Given the description of an element on the screen output the (x, y) to click on. 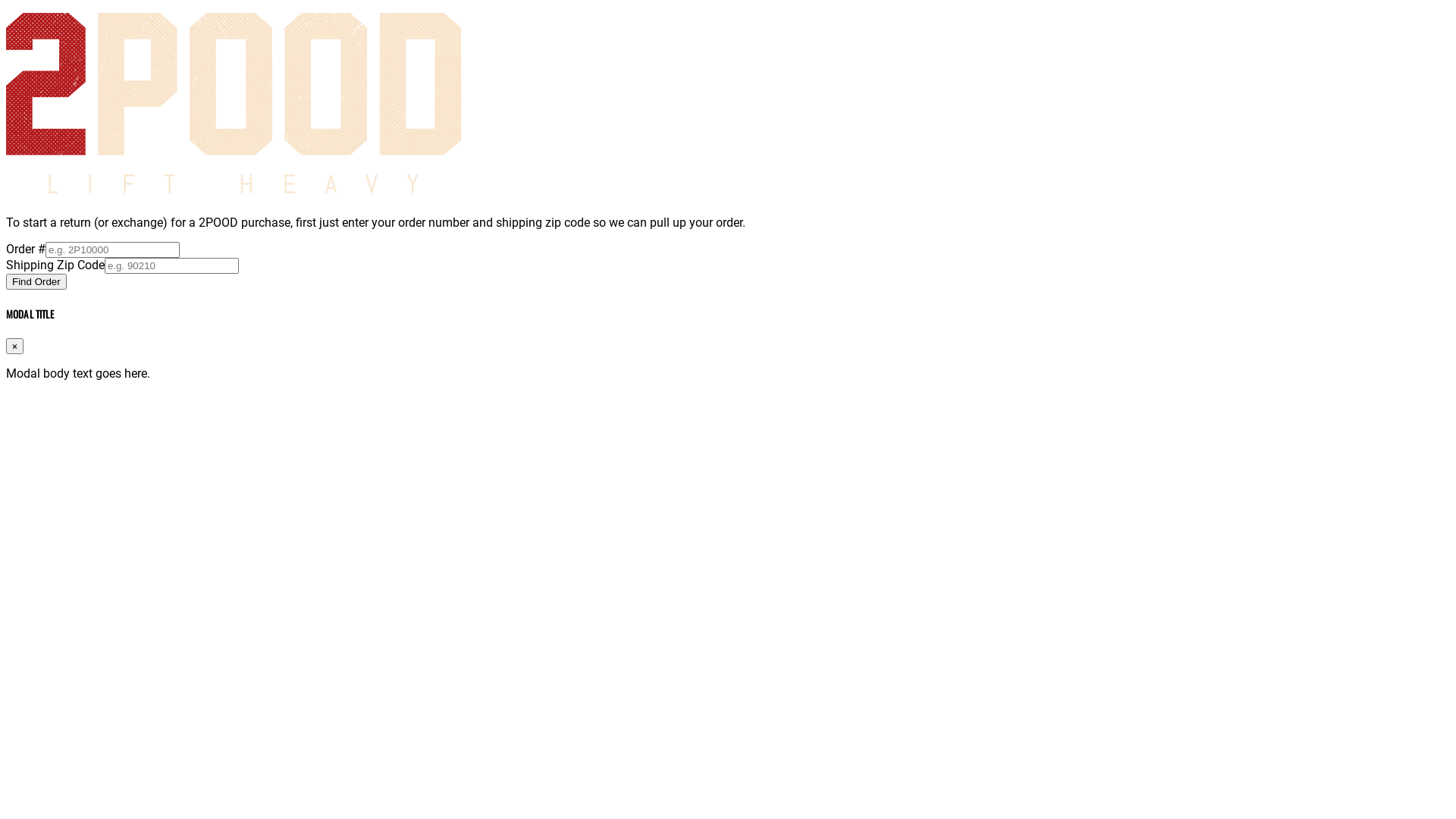
Find Order Element type: text (36, 281)
